Given the description of an element on the screen output the (x, y) to click on. 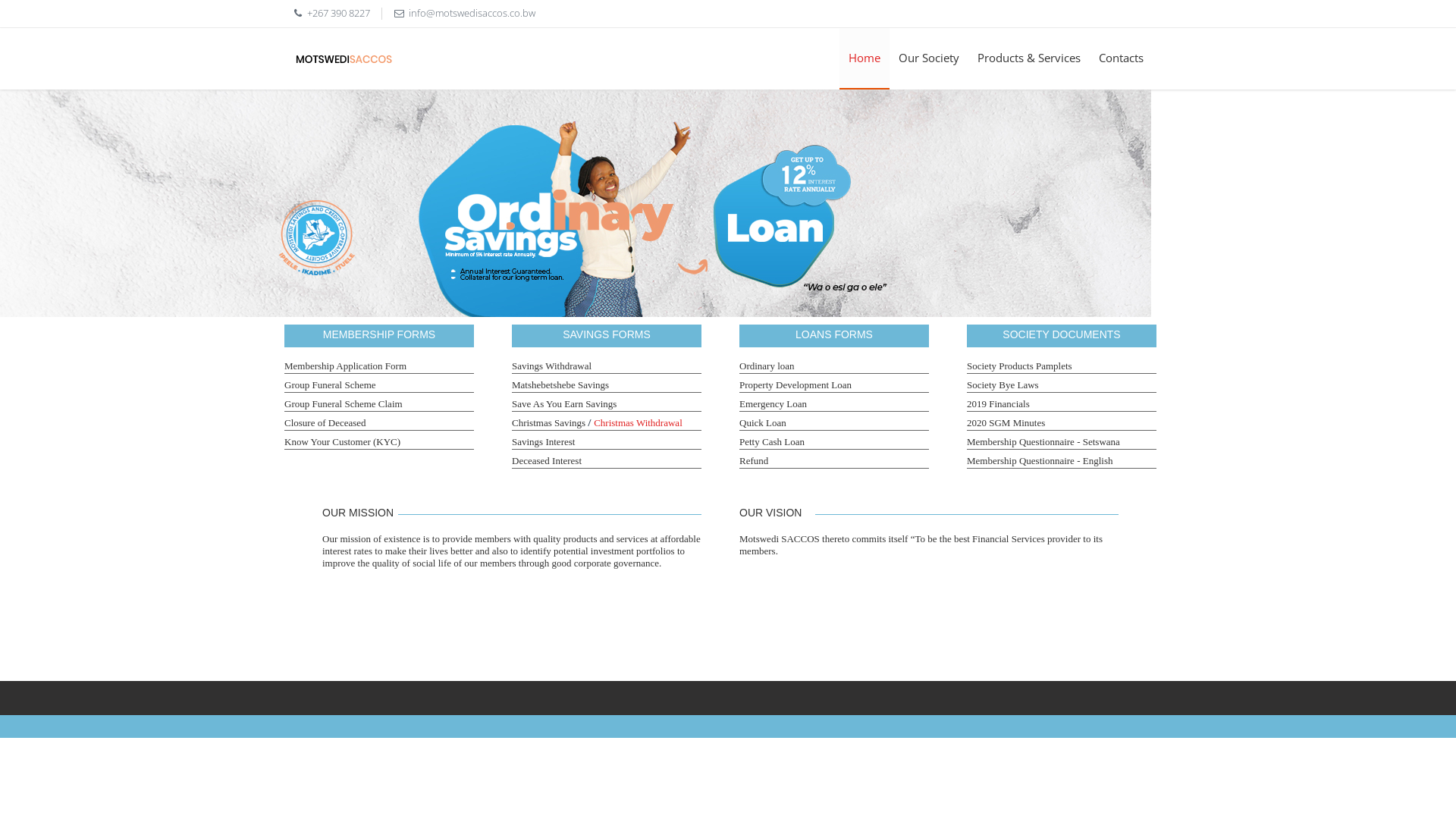
Group Funeral Scheme Element type: text (330, 384)
Closure of Deceased Element type: text (325, 422)
Group Funeral Scheme Claim Element type: text (343, 403)
Matshebetshebe Savings Element type: text (559, 384)
Christmas Savings Element type: text (548, 422)
2019 Financials Element type: text (997, 403)
Refund Element type: text (753, 460)
Society Products Pamplets Element type: text (1019, 365)
Ordinary loan Element type: text (766, 365)
Membership Questionnaire - Setswana Element type: text (1043, 441)
Christmas Withdrawal Element type: text (637, 422)
Membership Application Form Element type: text (345, 365)
2020 SGM Minutes Element type: text (1005, 422)
Emergency Loan Element type: text (772, 403)
Contacts Element type: text (1120, 57)
Save As You Earn Savings Element type: text (563, 403)
Savings Withdrawal Element type: text (551, 365)
Home Element type: text (864, 58)
Property Development Loan Element type: text (795, 384)
Our Society Element type: text (928, 57)
Society Bye Laws Element type: text (1002, 384)
Deceased Interest Element type: text (546, 460)
Petty Cash Loan Element type: text (771, 441)
Quick Loan Element type: text (762, 422)
Savings Interest Element type: text (542, 441)
Know Your Customer (KYC) Element type: text (342, 441)
Products & Services Element type: text (1028, 57)
Membership Questionnaire - English Element type: text (1039, 460)
